Given the description of an element on the screen output the (x, y) to click on. 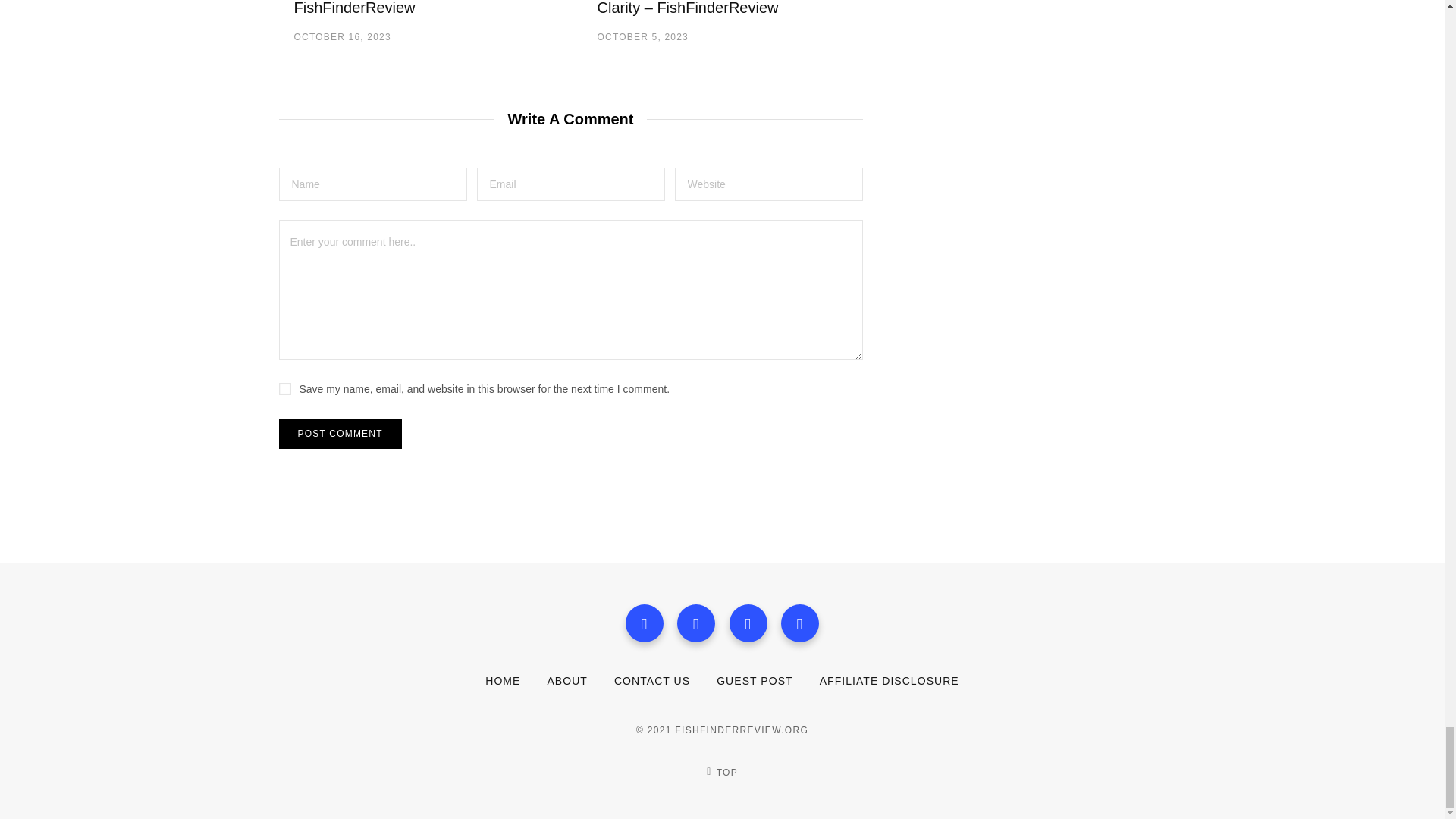
yes (285, 388)
Post Comment (340, 433)
